Given the description of an element on the screen output the (x, y) to click on. 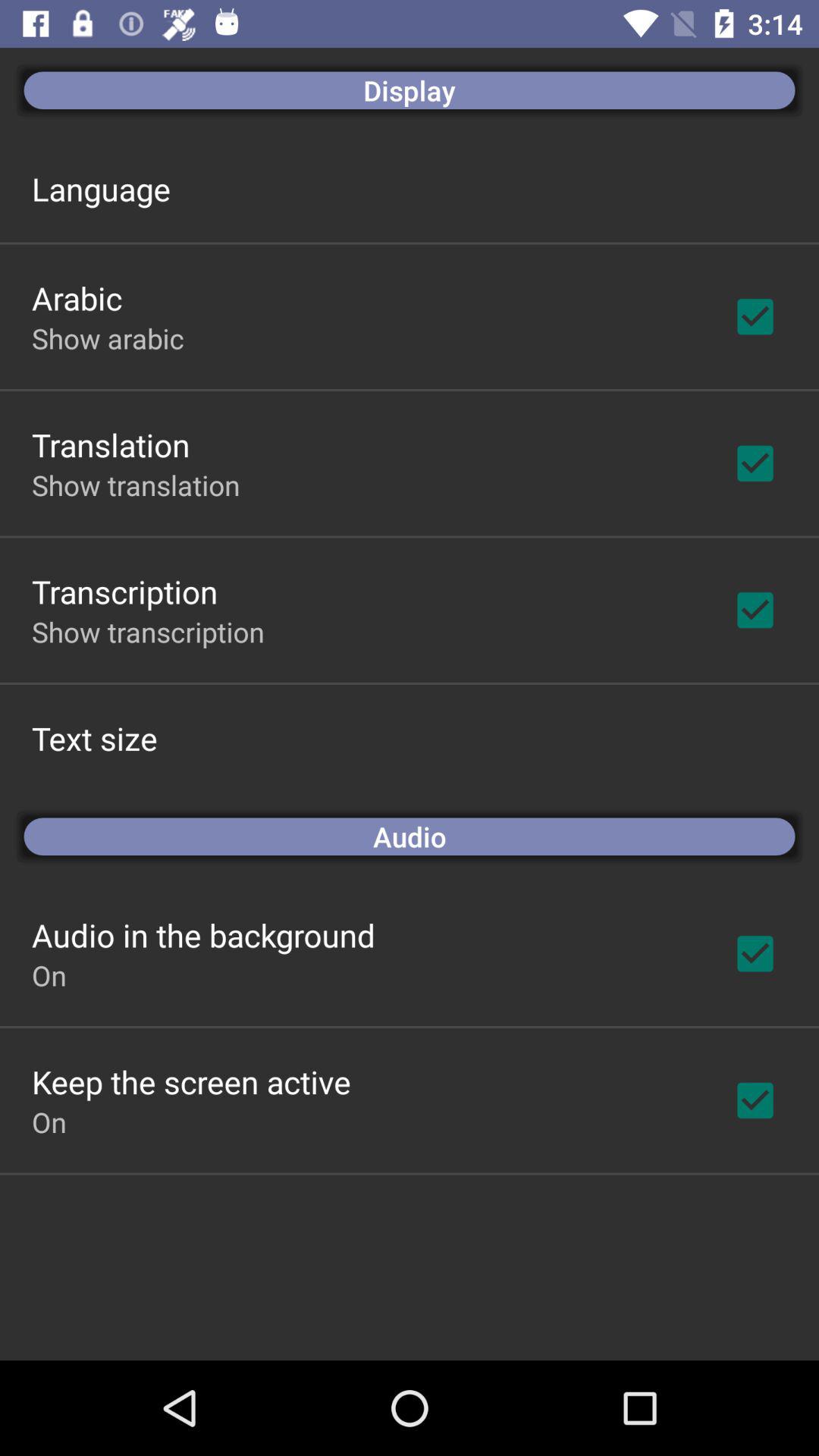
press the item below the transcription icon (147, 631)
